Given the description of an element on the screen output the (x, y) to click on. 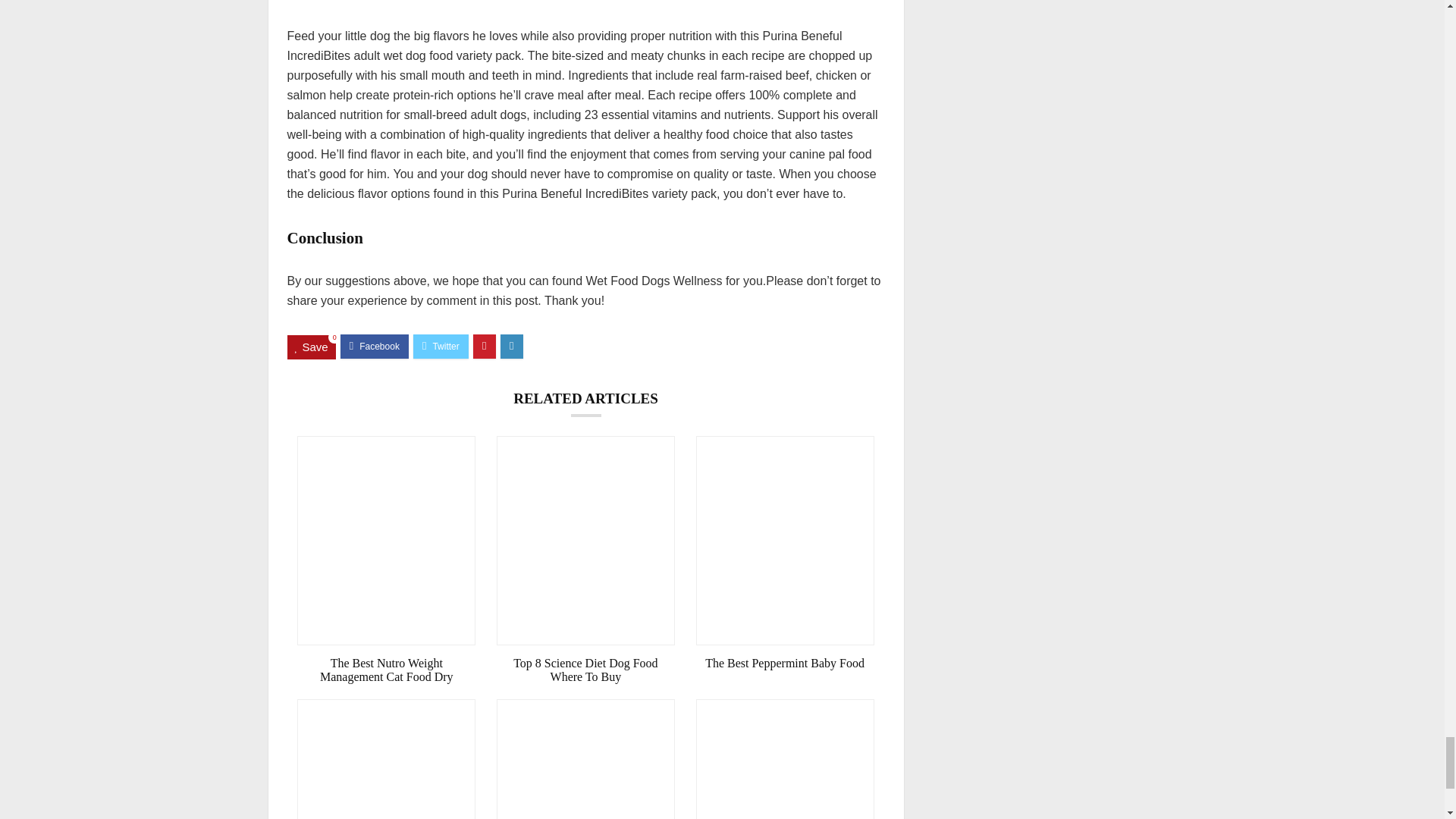
The Best Peppermint Baby Food (785, 663)
Top 8 Science Diet Dog Food Where To Buy (585, 669)
The Best Nutro Weight Management Cat Food Dry (386, 669)
